Given the description of an element on the screen output the (x, y) to click on. 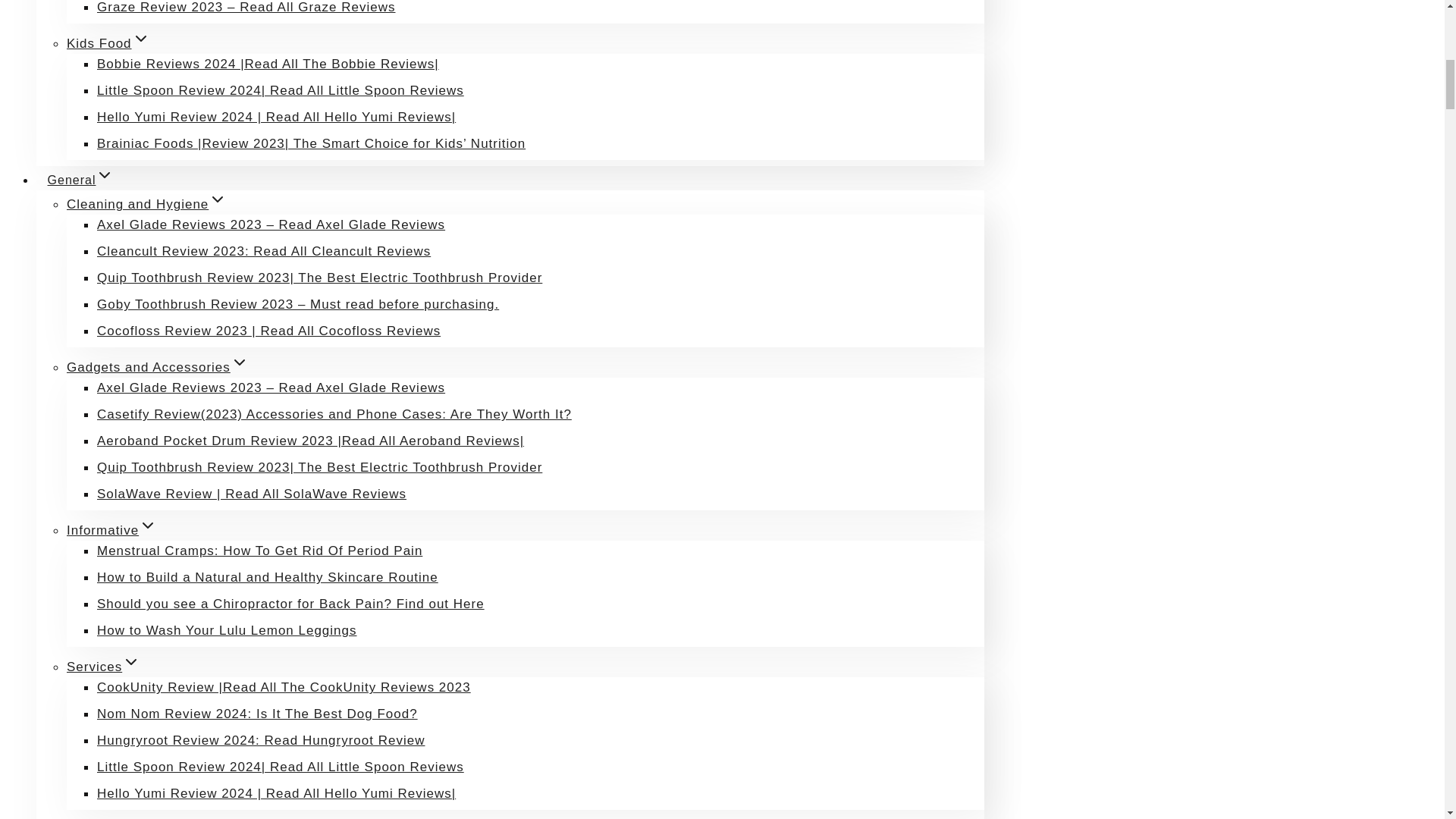
Expand (140, 38)
Cleaning and HygieneExpand (146, 204)
Expand (239, 361)
Kids FoodExpand (107, 43)
GeneralExpand (80, 179)
Expand (186, 817)
Expand (217, 199)
Expand (147, 525)
Expand (130, 661)
Expand (104, 175)
Cleancult Review 2023: Read All Cleancult Reviews (263, 251)
